Given the description of an element on the screen output the (x, y) to click on. 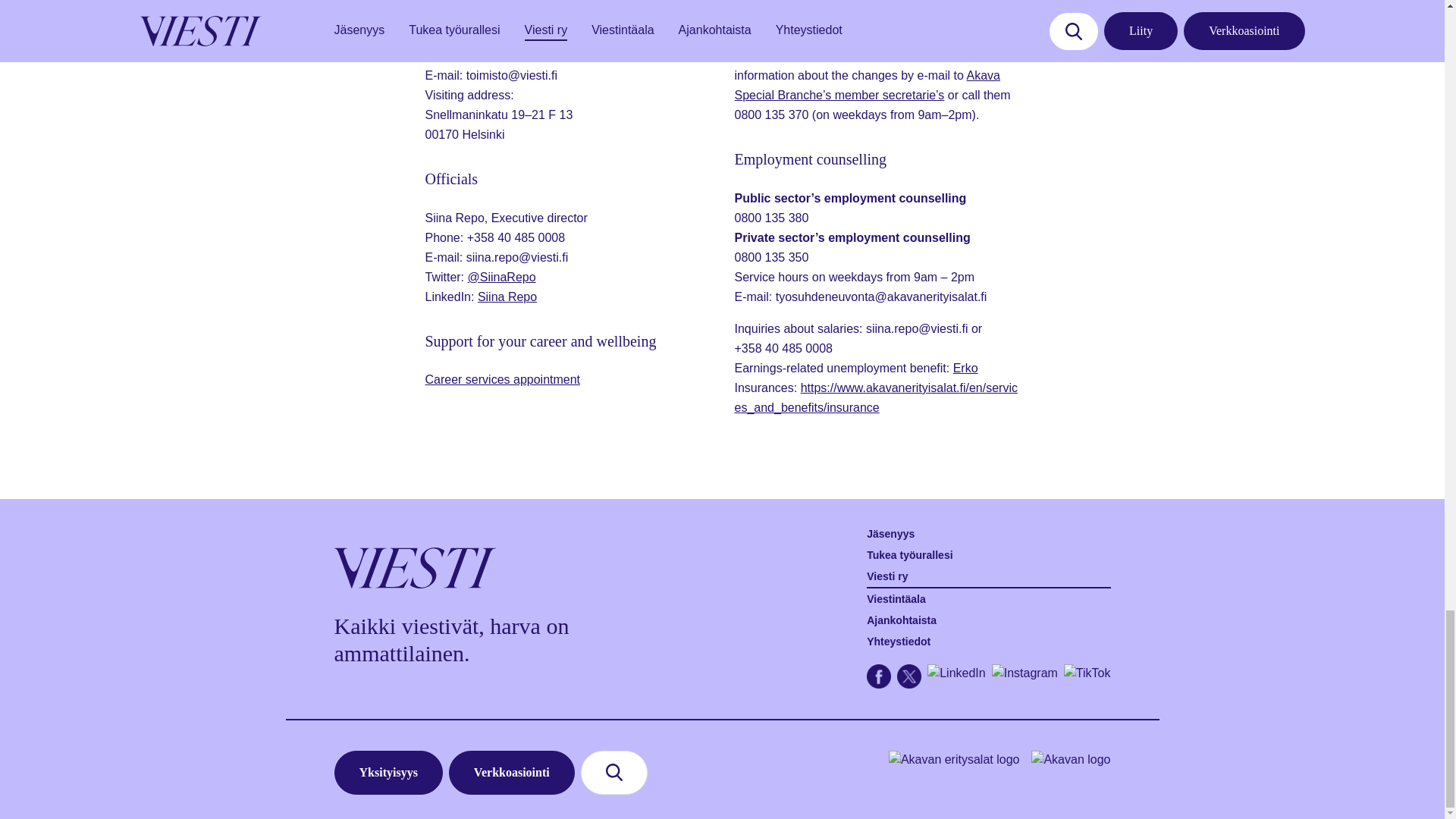
Career services appointment (502, 379)
online service.  (820, 55)
Siina Repo (507, 296)
